Given the description of an element on the screen output the (x, y) to click on. 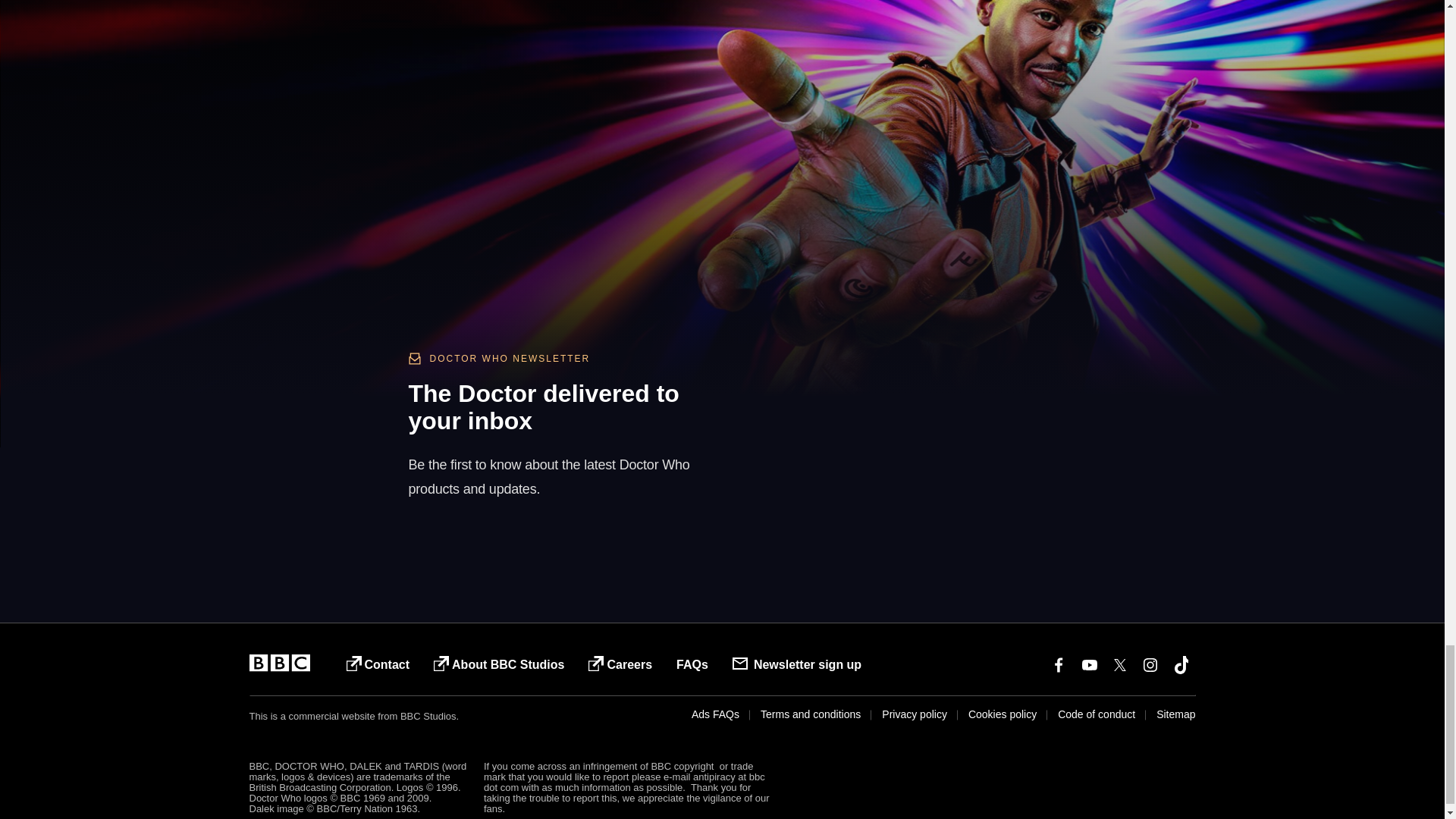
Newsletter (888, 409)
